Given the description of an element on the screen output the (x, y) to click on. 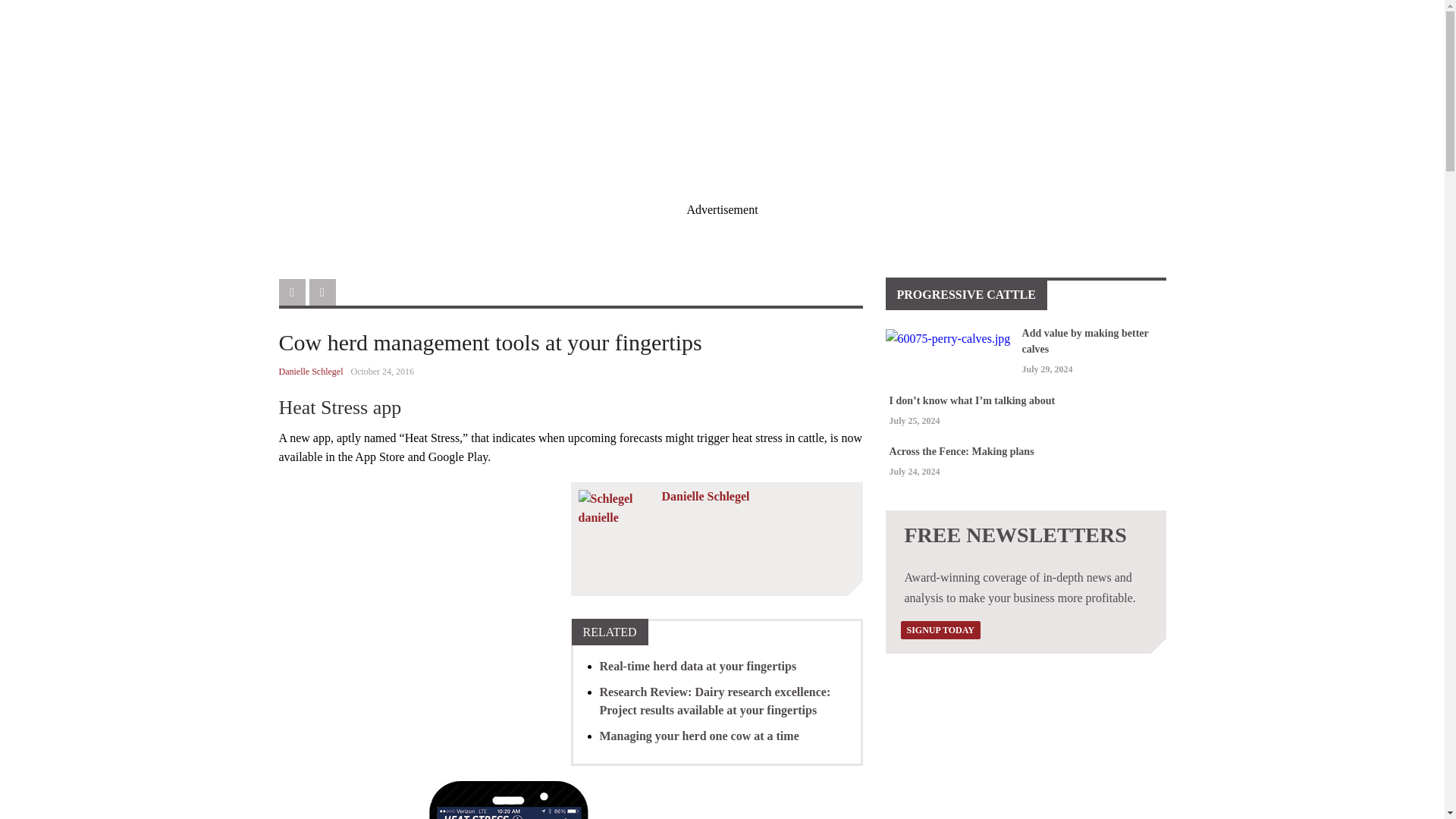
Across the Fence: Making plans (961, 451)
Add value by making better calves (1085, 340)
SIGNUP TODAY (940, 629)
Real-time herd data at your fingertips (697, 666)
Danielle Schlegel (705, 496)
Managing your herd one cow at a time (697, 735)
Danielle Schlegel (311, 371)
60075-perry-calves.jpg (949, 338)
